Given the description of an element on the screen output the (x, y) to click on. 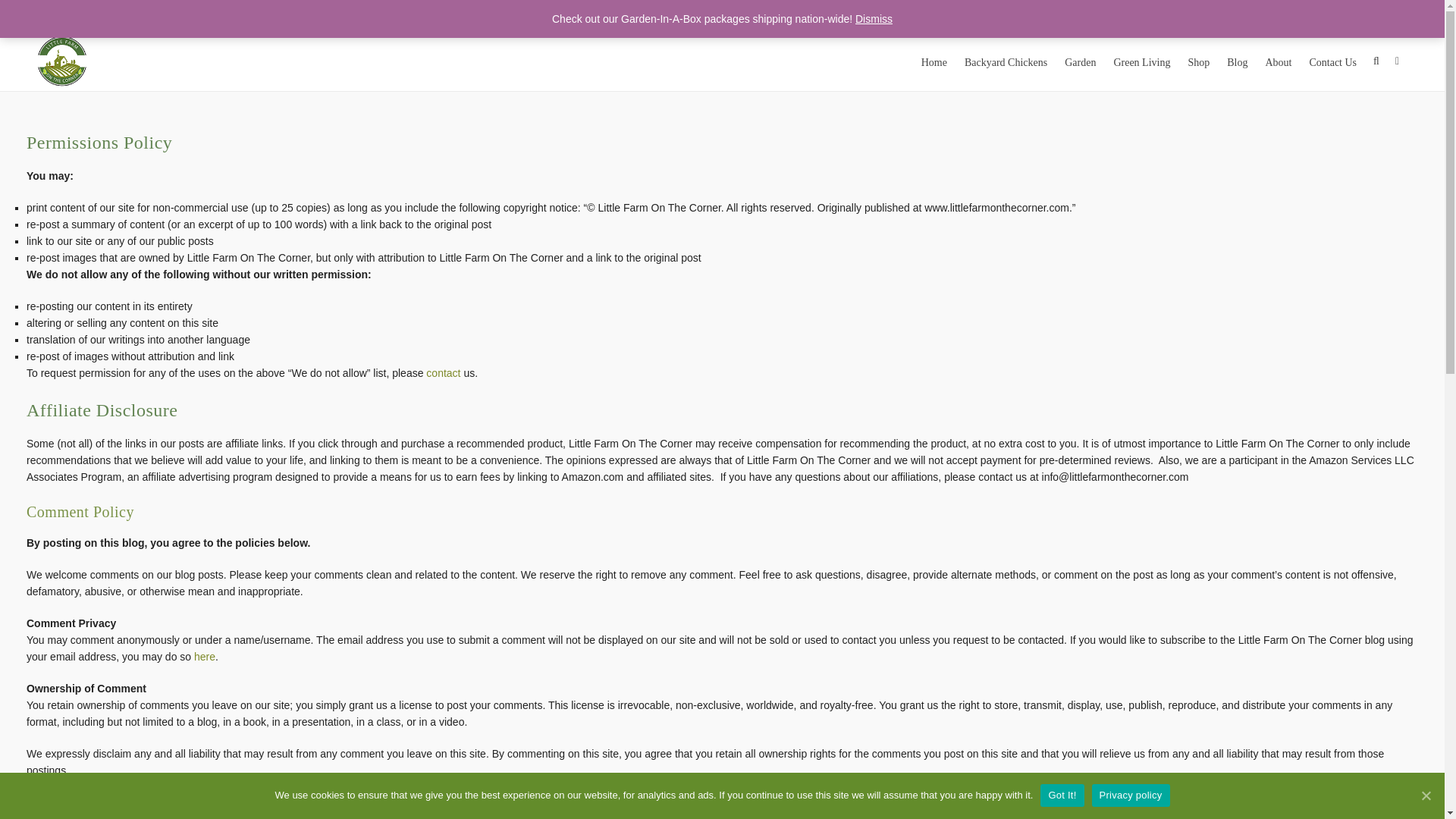
here (204, 656)
Contact Us (1332, 60)
Backyard Chickens (1005, 60)
contact (443, 372)
Green Living (1141, 60)
